Given the description of an element on the screen output the (x, y) to click on. 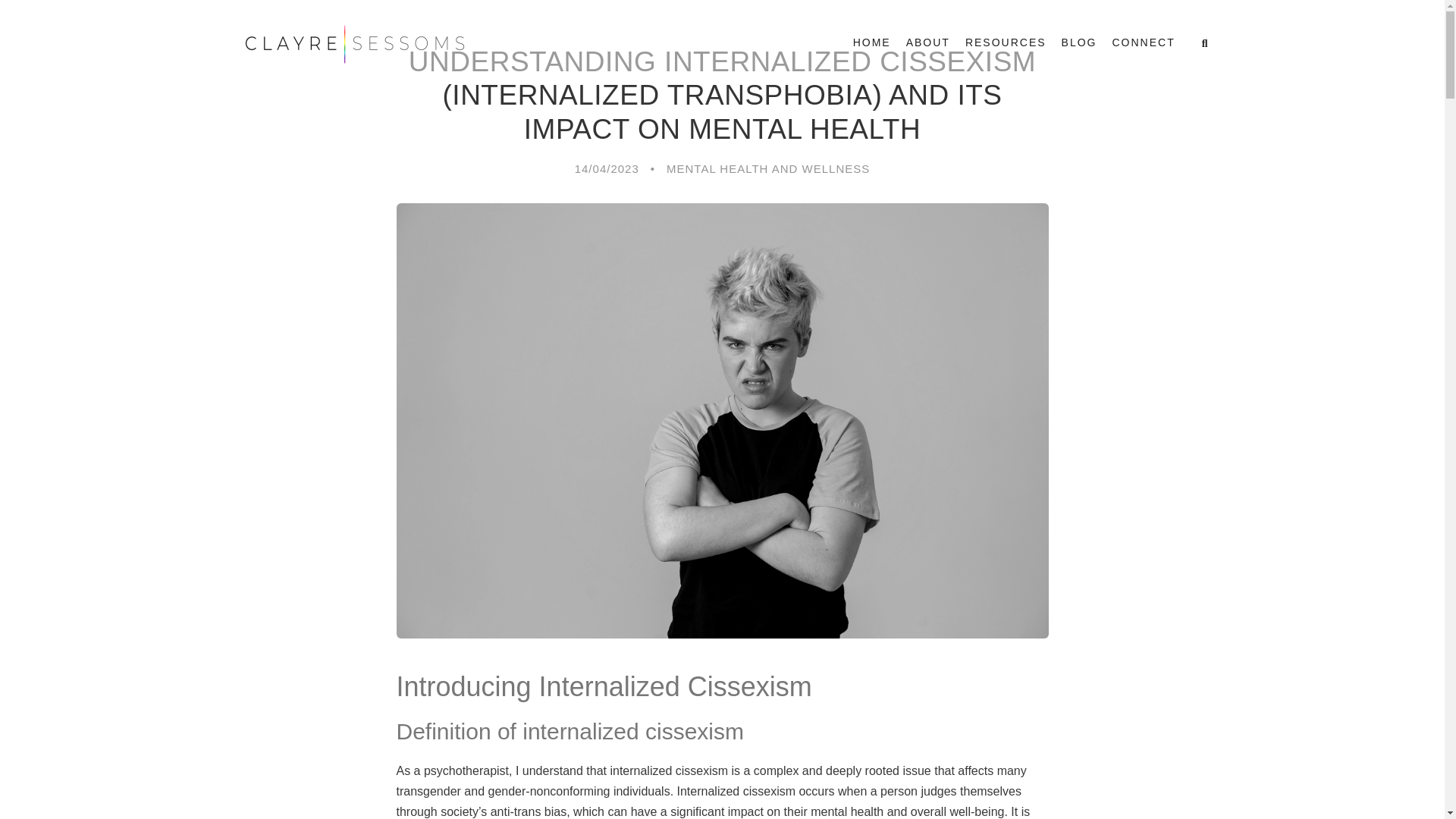
Clayre Sessoms Logo (353, 43)
CONNECT (1143, 48)
RESOURCES (1005, 48)
BLOG (1079, 48)
ABOUT (927, 48)
MENTAL HEALTH AND WELLNESS (767, 168)
HOME (872, 48)
